Given the description of an element on the screen output the (x, y) to click on. 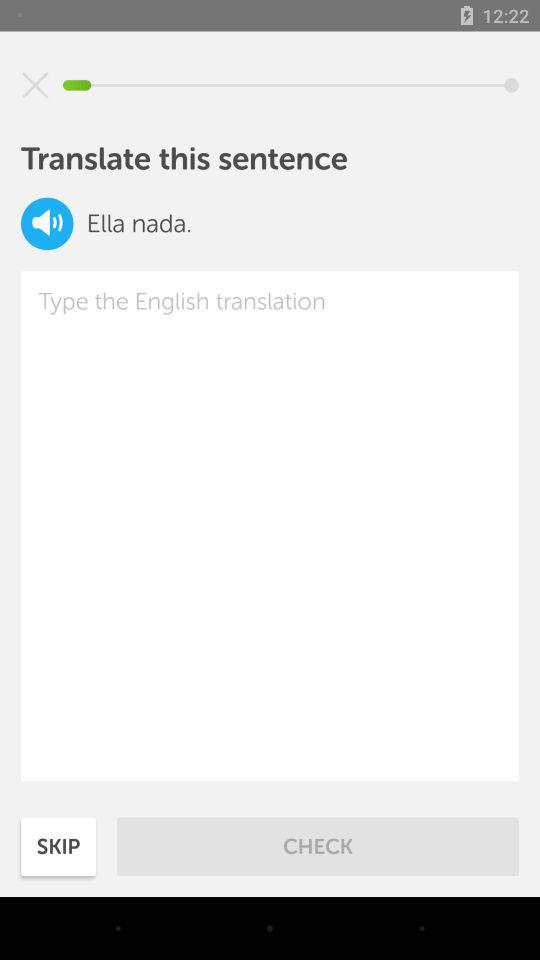
press skip (58, 846)
